Given the description of an element on the screen output the (x, y) to click on. 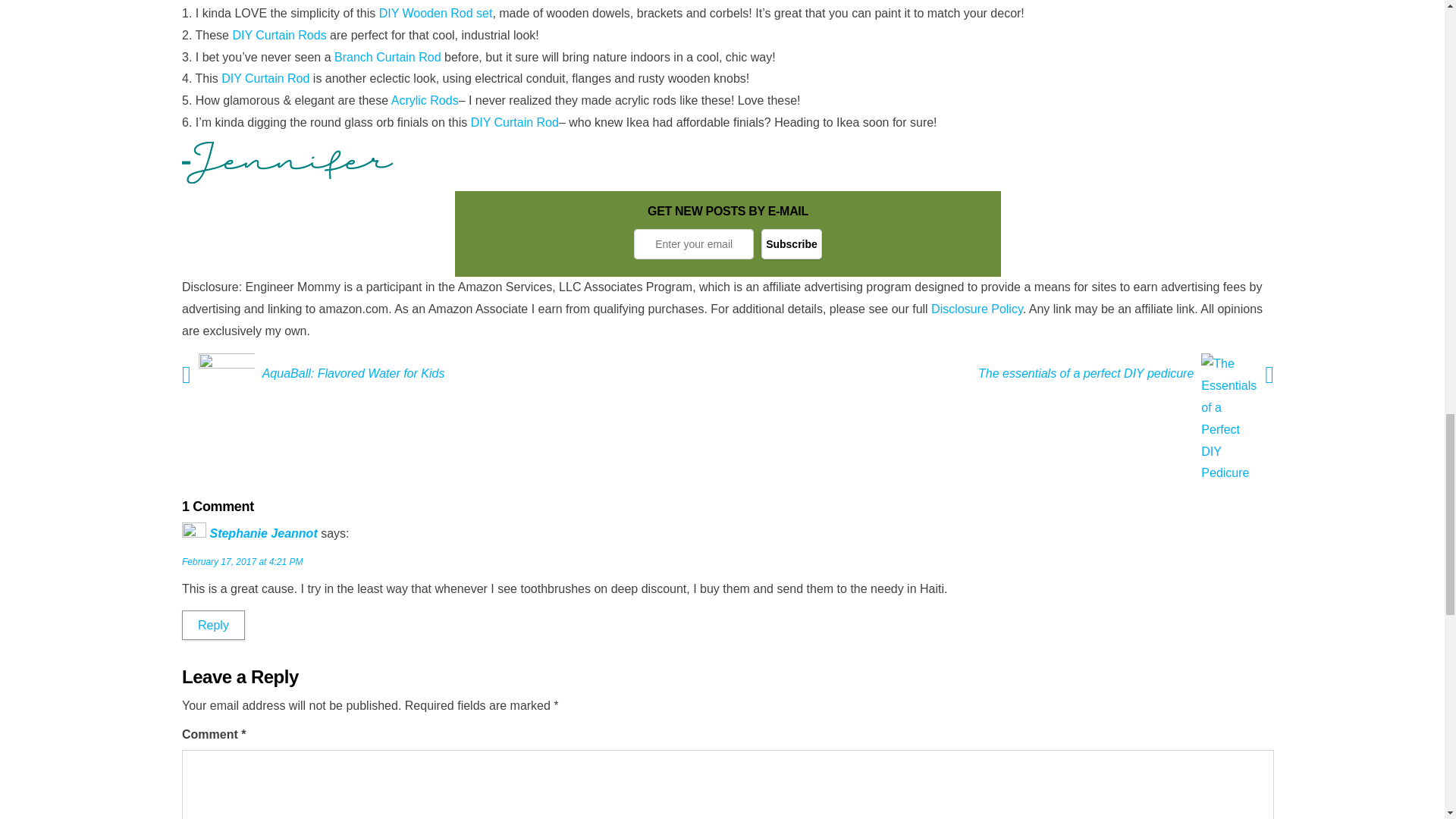
The essentials of a perfect DIY pedicure (1082, 373)
DIY Curtain Rod (264, 78)
Subscribe (791, 244)
Disclosure Policy (977, 308)
DIY Wooden Rod set (435, 12)
Subscribe (791, 244)
DIY Curtain Rods (278, 34)
AquaBall: Flavored Water for Kids (357, 373)
Acrylic Rods (424, 100)
Branch Curtain Rod (387, 56)
